Given the description of an element on the screen output the (x, y) to click on. 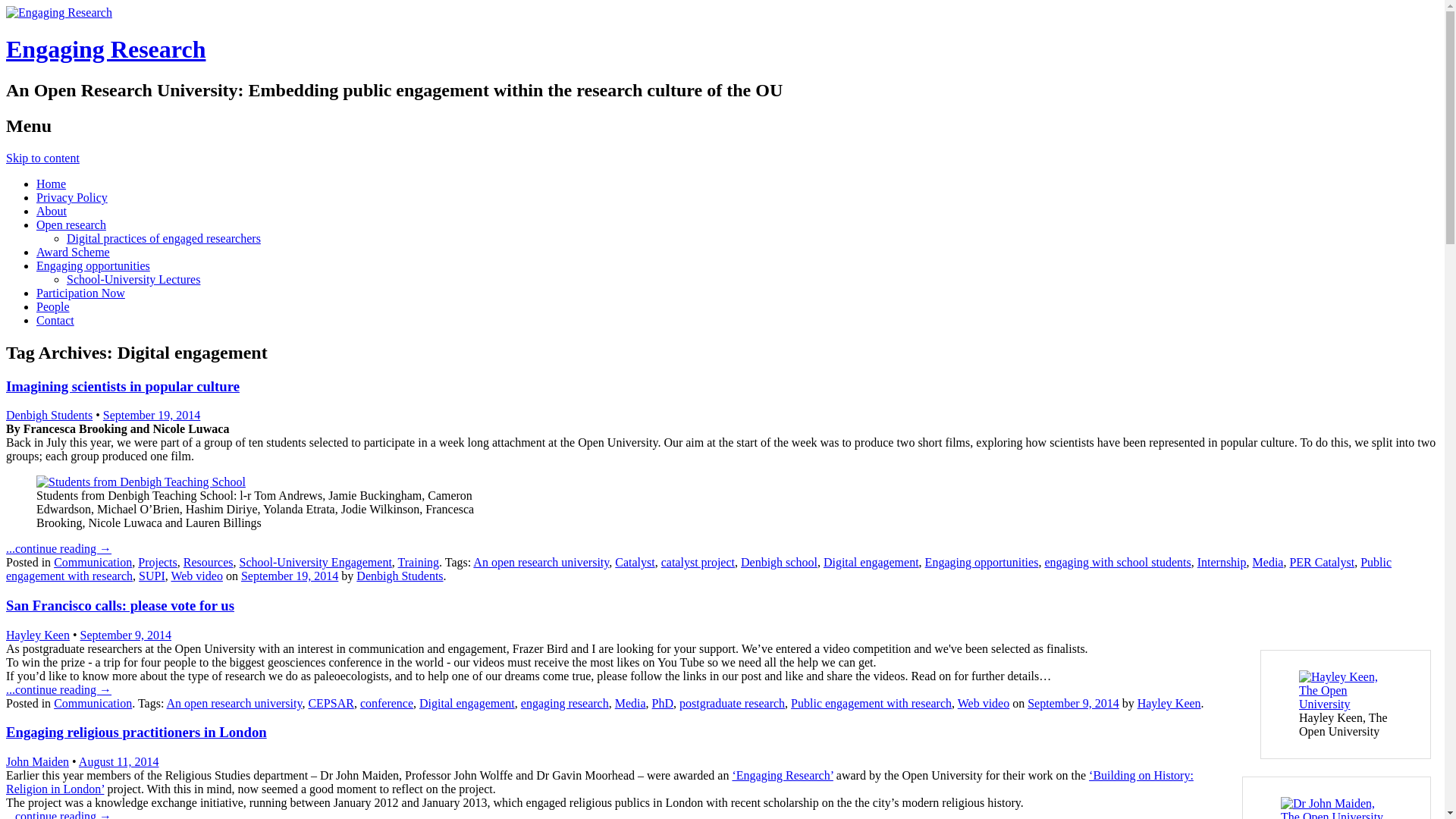
Digital engagement (871, 562)
SUPI (151, 575)
Communication (92, 562)
September 19, 2014 (151, 414)
Web video (196, 575)
catalyst project (698, 562)
View all posts by Hayley Keen (37, 634)
Participation Now (80, 292)
An open research university (540, 562)
Open research (71, 224)
